Given the description of an element on the screen output the (x, y) to click on. 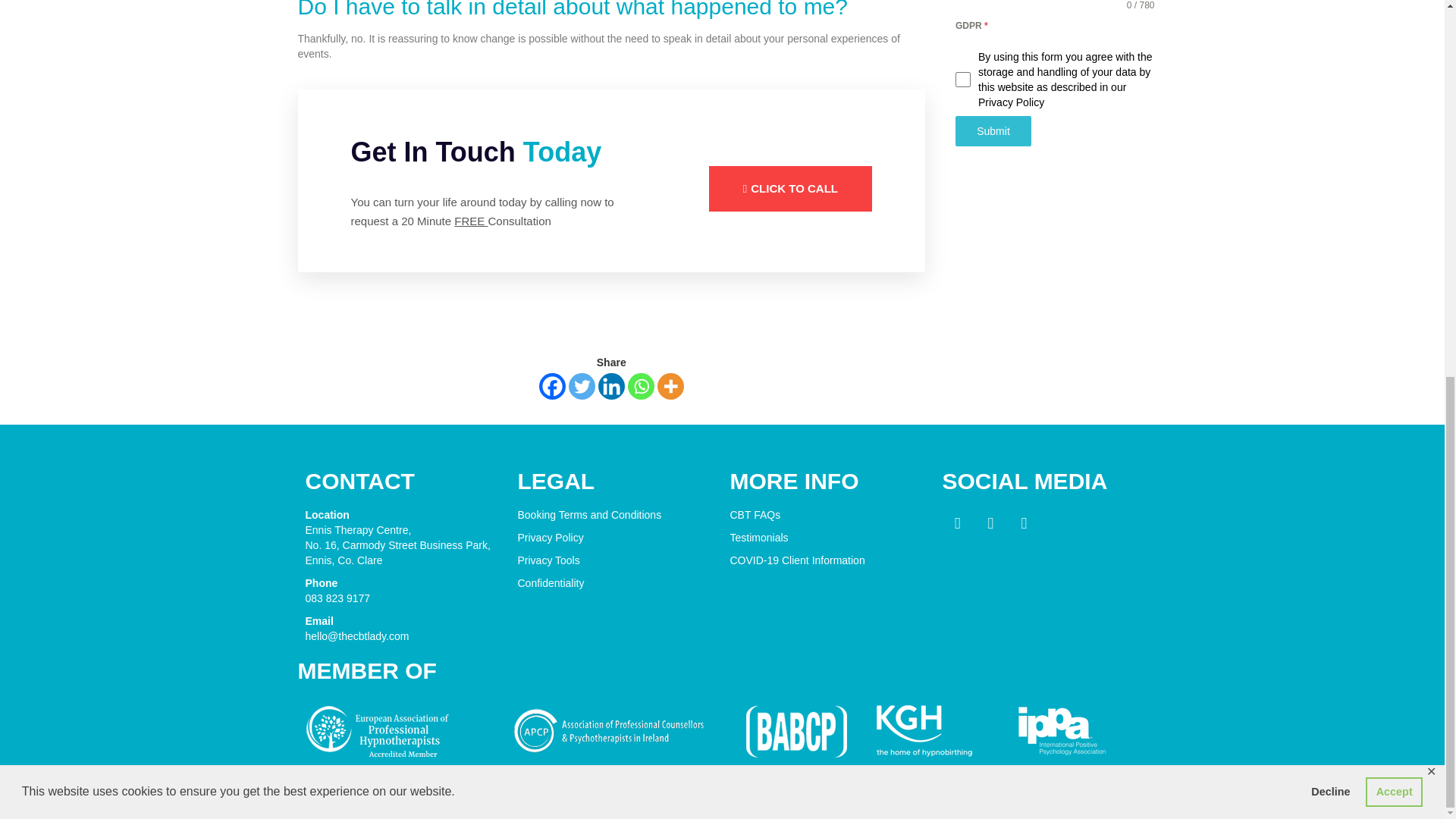
COVID-19 Client Information (796, 560)
Twitter (582, 386)
Testimonials (758, 537)
CBT FAQs (754, 514)
Facebook (552, 386)
Privacy Tools (547, 560)
Confidentiality (549, 582)
Linkedin (611, 386)
Whatsapp (640, 386)
Privacy Policy (549, 537)
Submit (992, 131)
Booking Terms and Conditions (588, 514)
Accept (1393, 96)
More (671, 386)
